Given the description of an element on the screen output the (x, y) to click on. 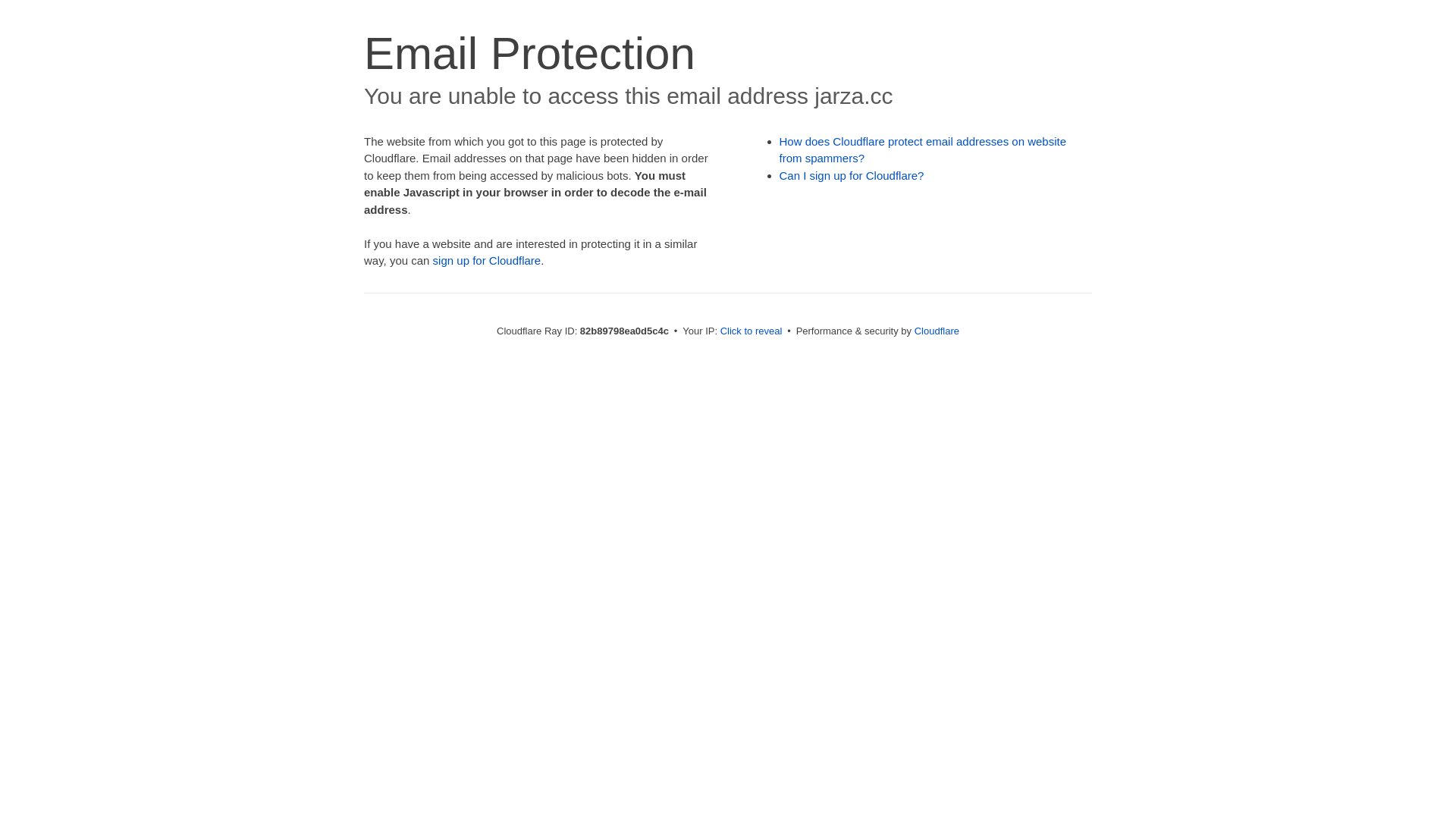
Cloudflare Element type: text (936, 330)
Click to reveal Element type: text (751, 330)
Can I sign up for Cloudflare? Element type: text (851, 175)
sign up for Cloudflare Element type: text (487, 260)
